Given the description of an element on the screen output the (x, y) to click on. 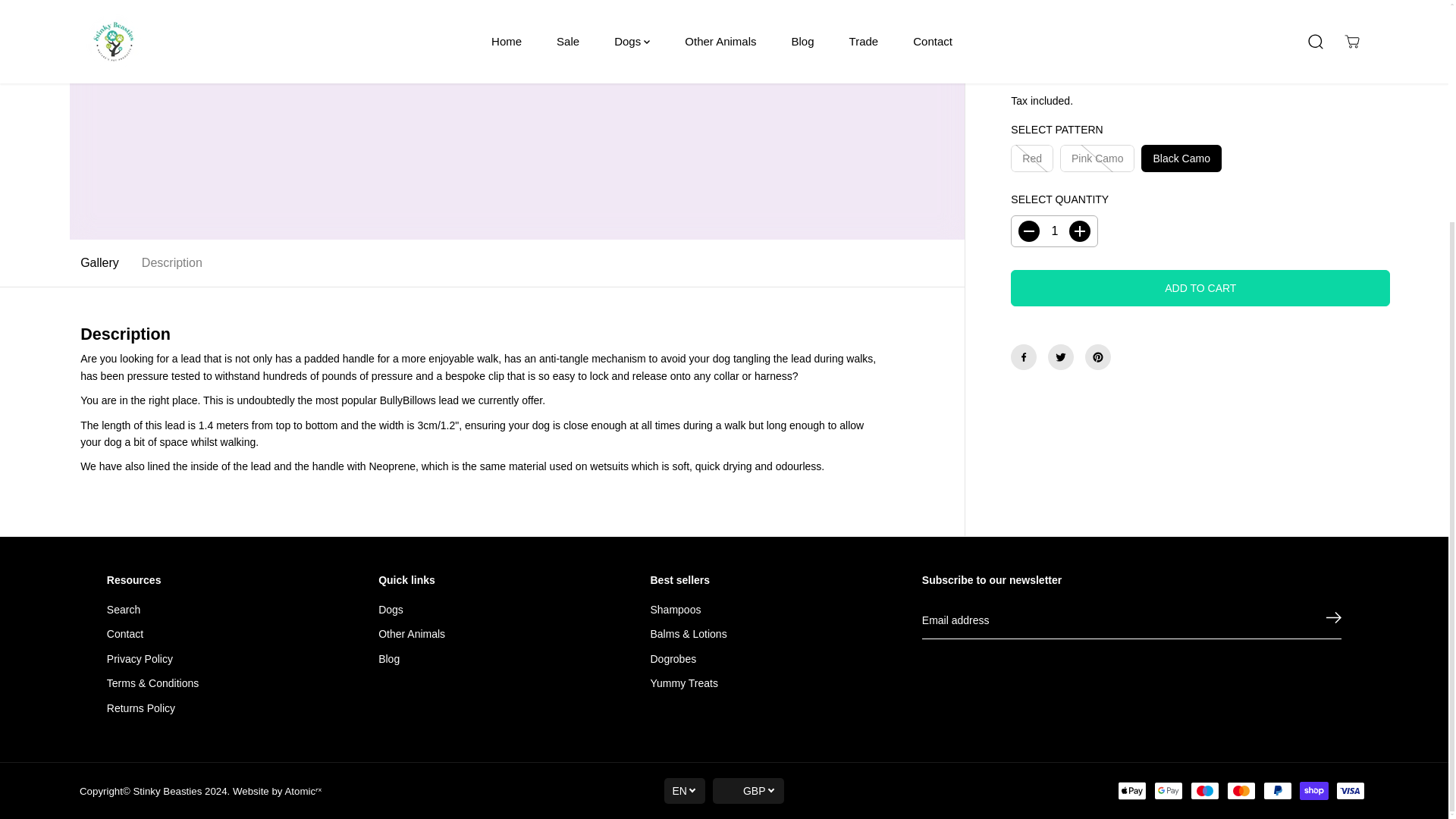
Visa (1350, 791)
Google Pay (1168, 791)
1 (1053, 15)
Shop Pay (1313, 791)
Apple Pay (1132, 791)
Maestro (1205, 791)
PayPal (1277, 791)
Twitter (1061, 141)
Mastercard (1241, 791)
Pinterest (1097, 141)
Facebook (1023, 141)
